Given the description of an element on the screen output the (x, y) to click on. 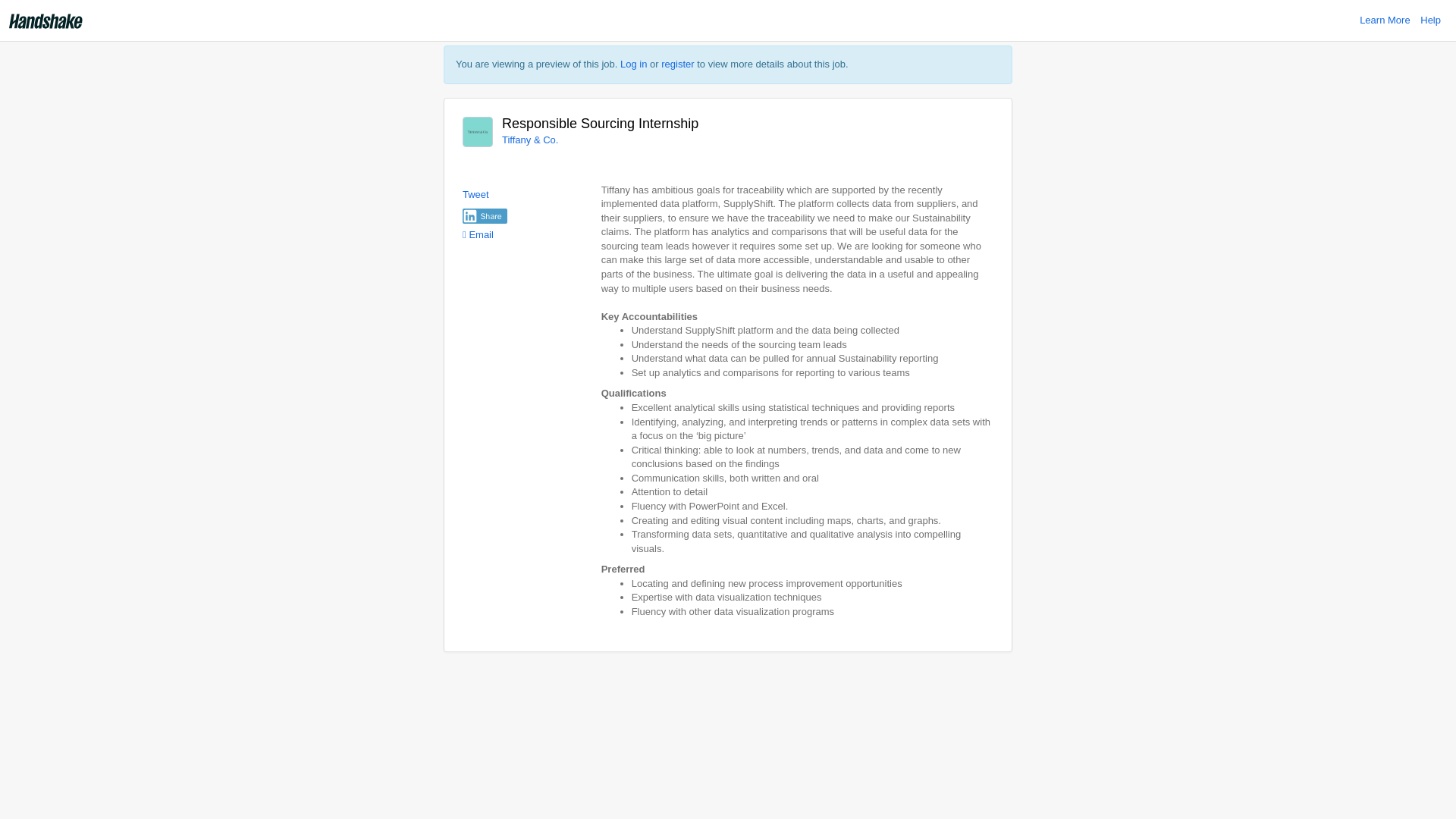
Share by Email (478, 234)
Help (1431, 19)
Log in (633, 63)
Email (478, 234)
Share (484, 215)
Learn More (1384, 19)
Tweet (476, 194)
register (677, 63)
